Given the description of an element on the screen output the (x, y) to click on. 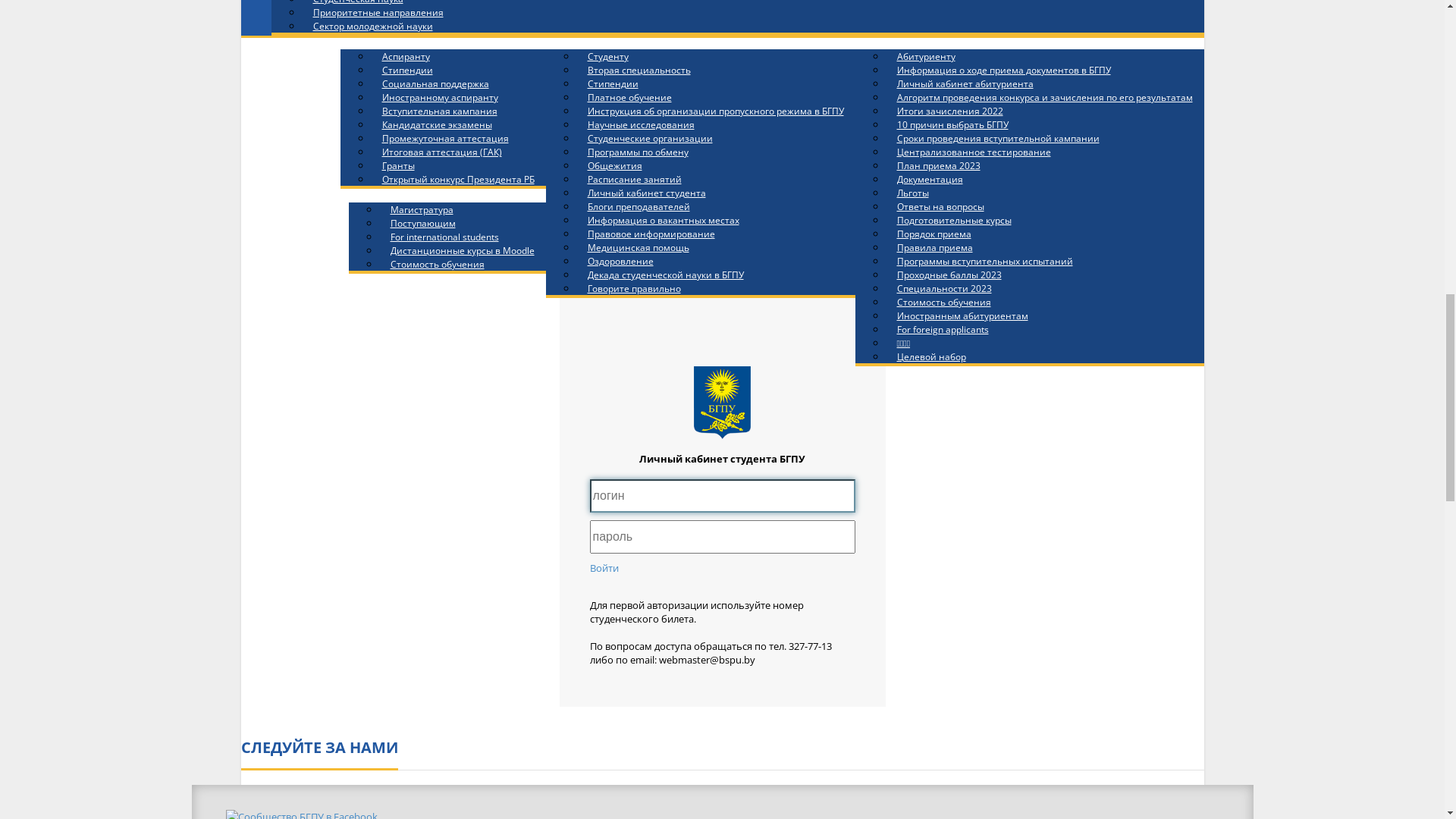
RSS Element type: text (916, 486)
Personal account of a foreign enrollee Element type: text (397, 67)
